Given the description of an element on the screen output the (x, y) to click on. 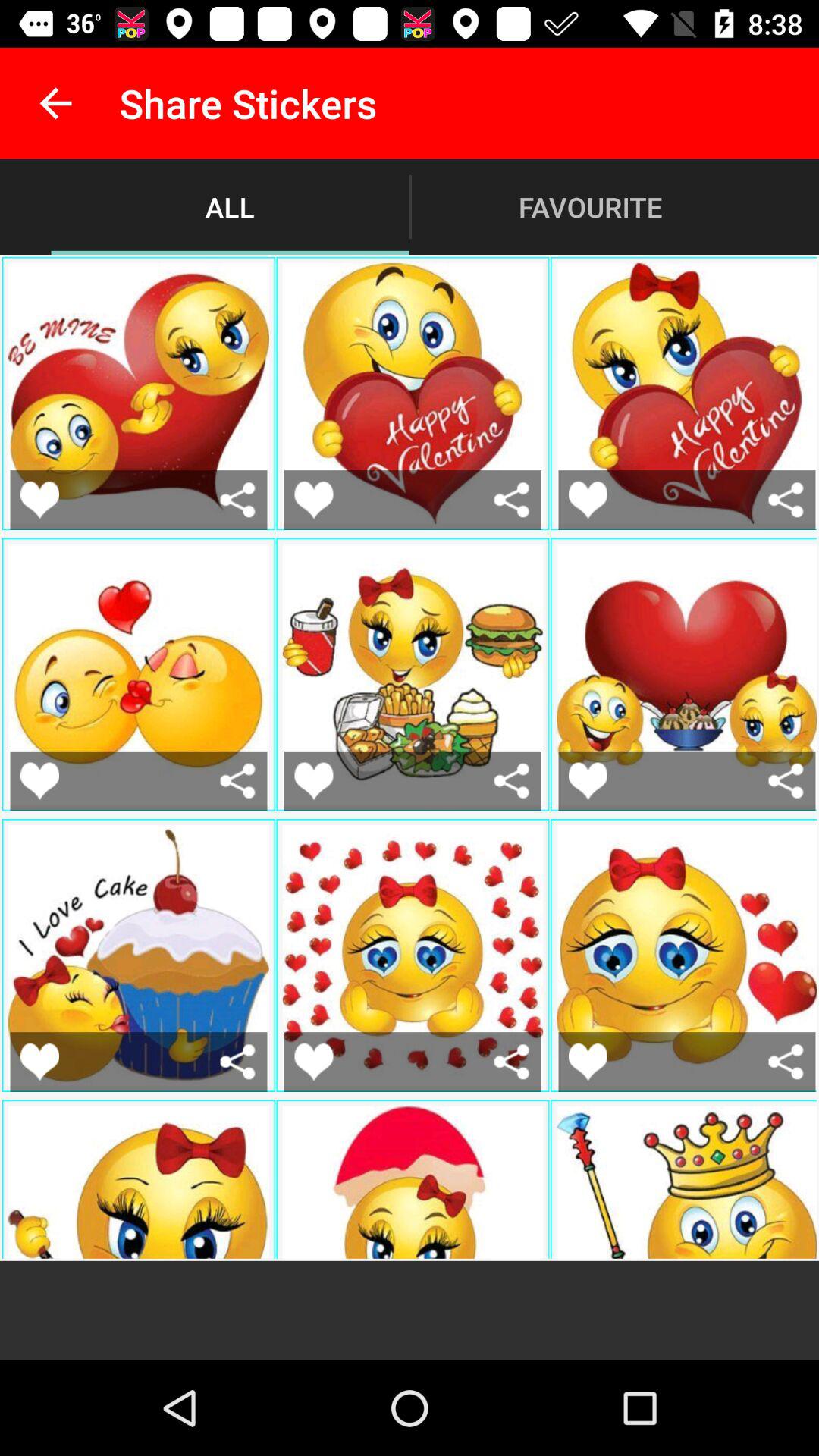
mark as favorite (39, 1061)
